Given the description of an element on the screen output the (x, y) to click on. 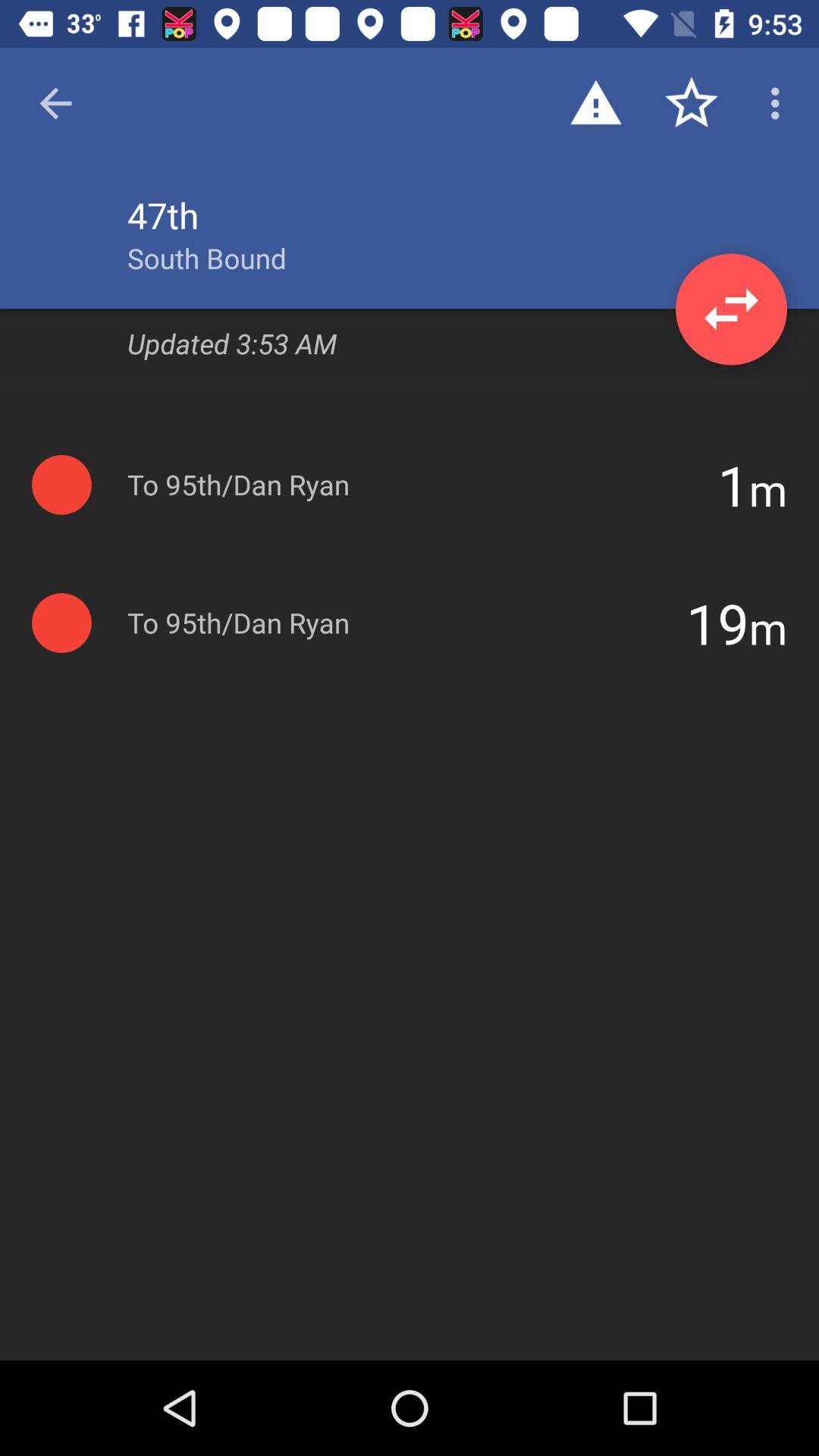
select the item to the right of the south bound (731, 309)
